Given the description of an element on the screen output the (x, y) to click on. 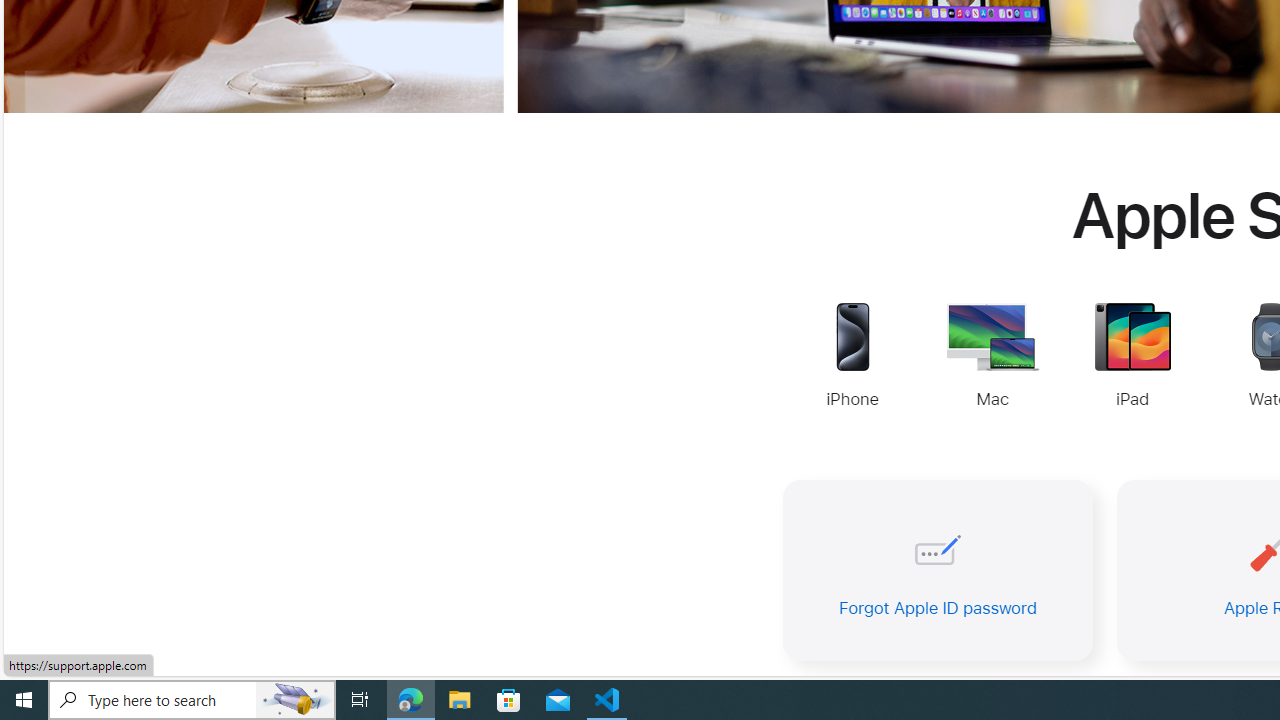
iPad Support (1131, 358)
Forgot Apple ID password (938, 570)
Mac Support (992, 358)
iPhone Support (852, 358)
